Given the description of an element on the screen output the (x, y) to click on. 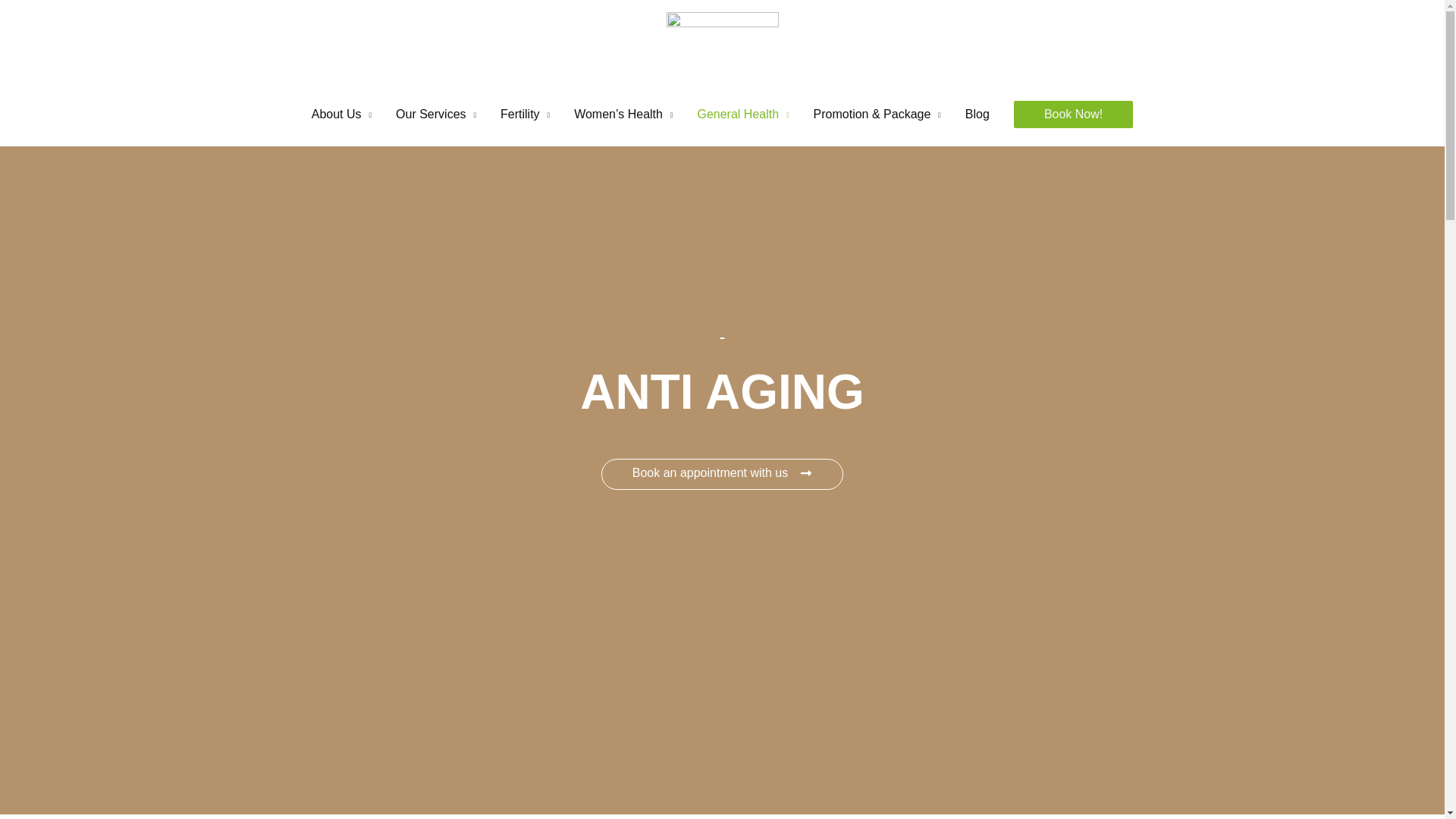
Fertility (524, 114)
Our Services (435, 114)
About Us (341, 114)
